Given the description of an element on the screen output the (x, y) to click on. 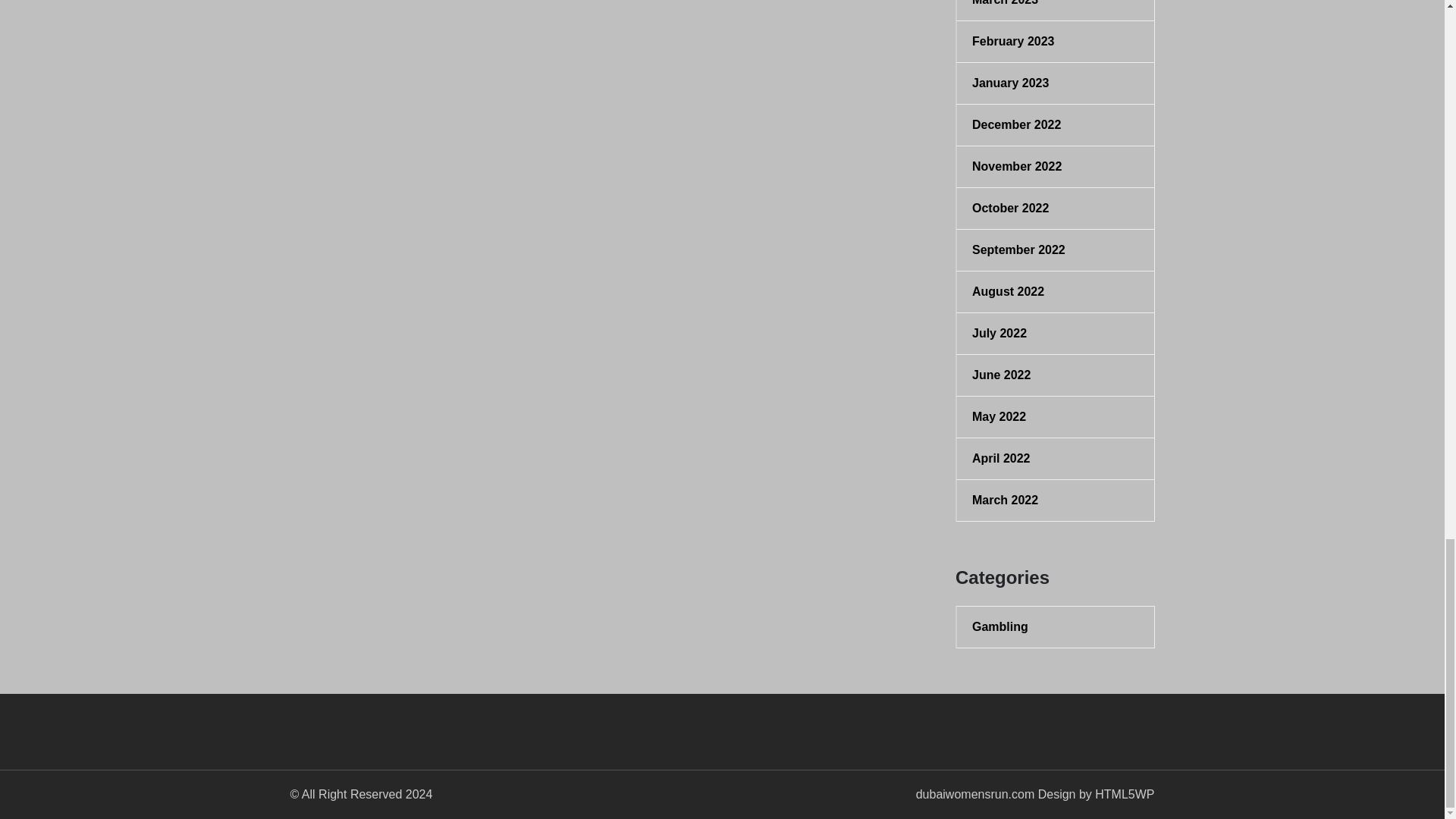
February 2023 (1055, 41)
September 2022 (1055, 249)
December 2022 (1055, 125)
October 2022 (1055, 208)
November 2022 (1055, 167)
March 2023 (1055, 4)
January 2023 (1055, 83)
